Given the description of an element on the screen output the (x, y) to click on. 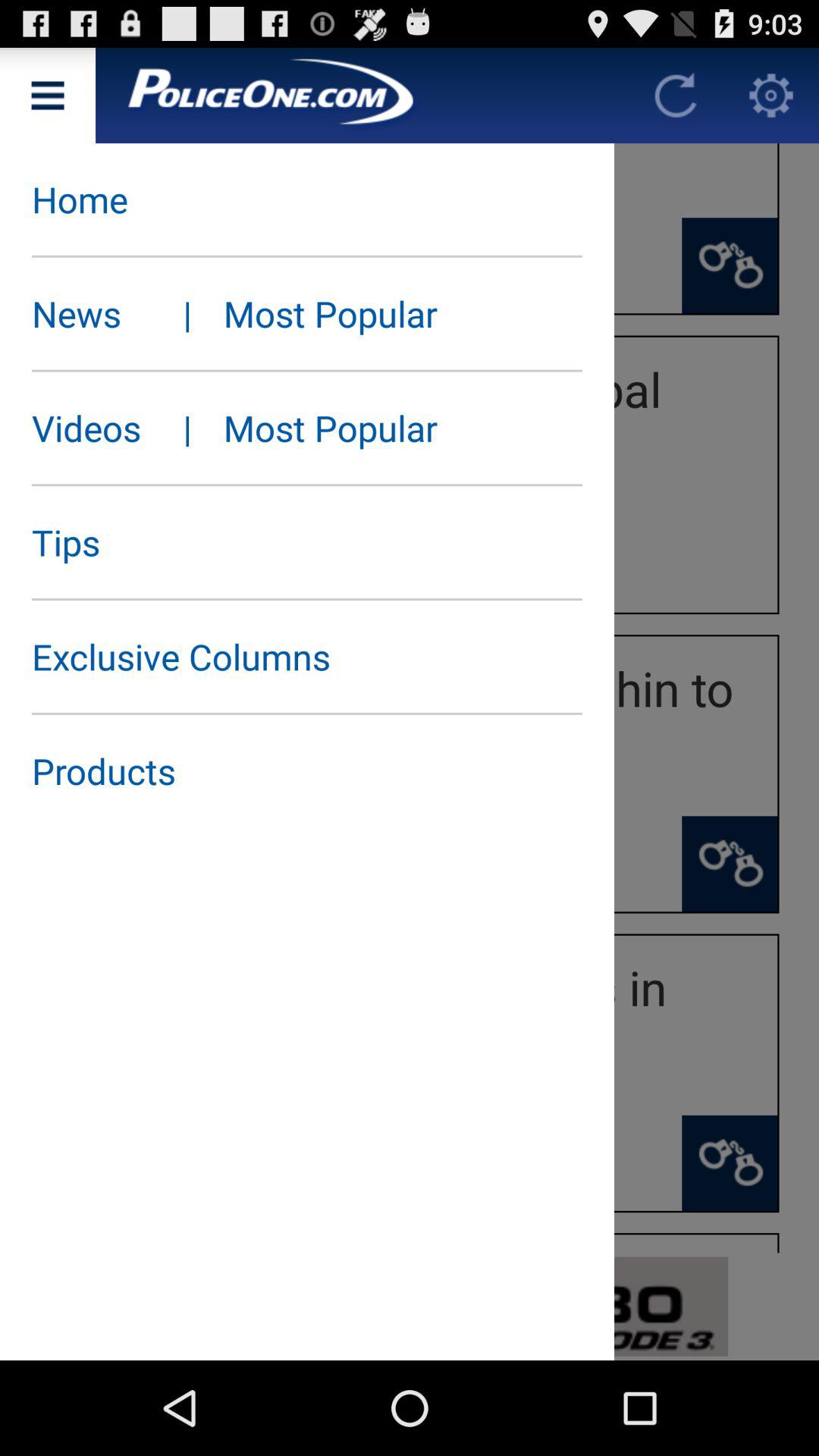
click on setting icon at the top right corner (771, 95)
